Given the description of an element on the screen output the (x, y) to click on. 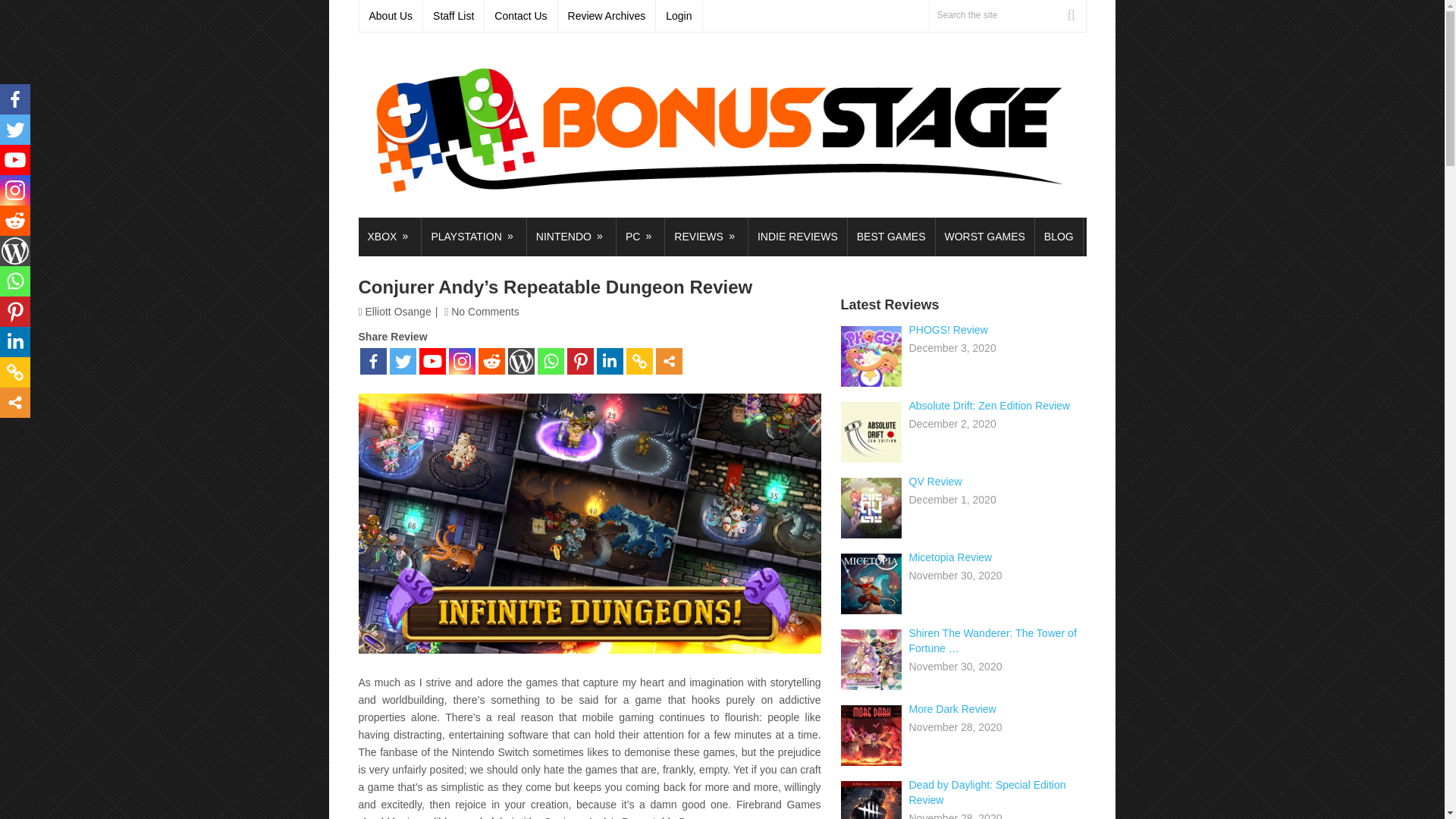
NINTENDO (571, 236)
Contact Us (520, 15)
XBOX (389, 236)
Staff List (453, 15)
PLAYSTATION (473, 236)
About Us (391, 15)
REVIEWS (706, 236)
Login (678, 15)
Review Archives (606, 15)
PC (639, 236)
